Given the description of an element on the screen output the (x, y) to click on. 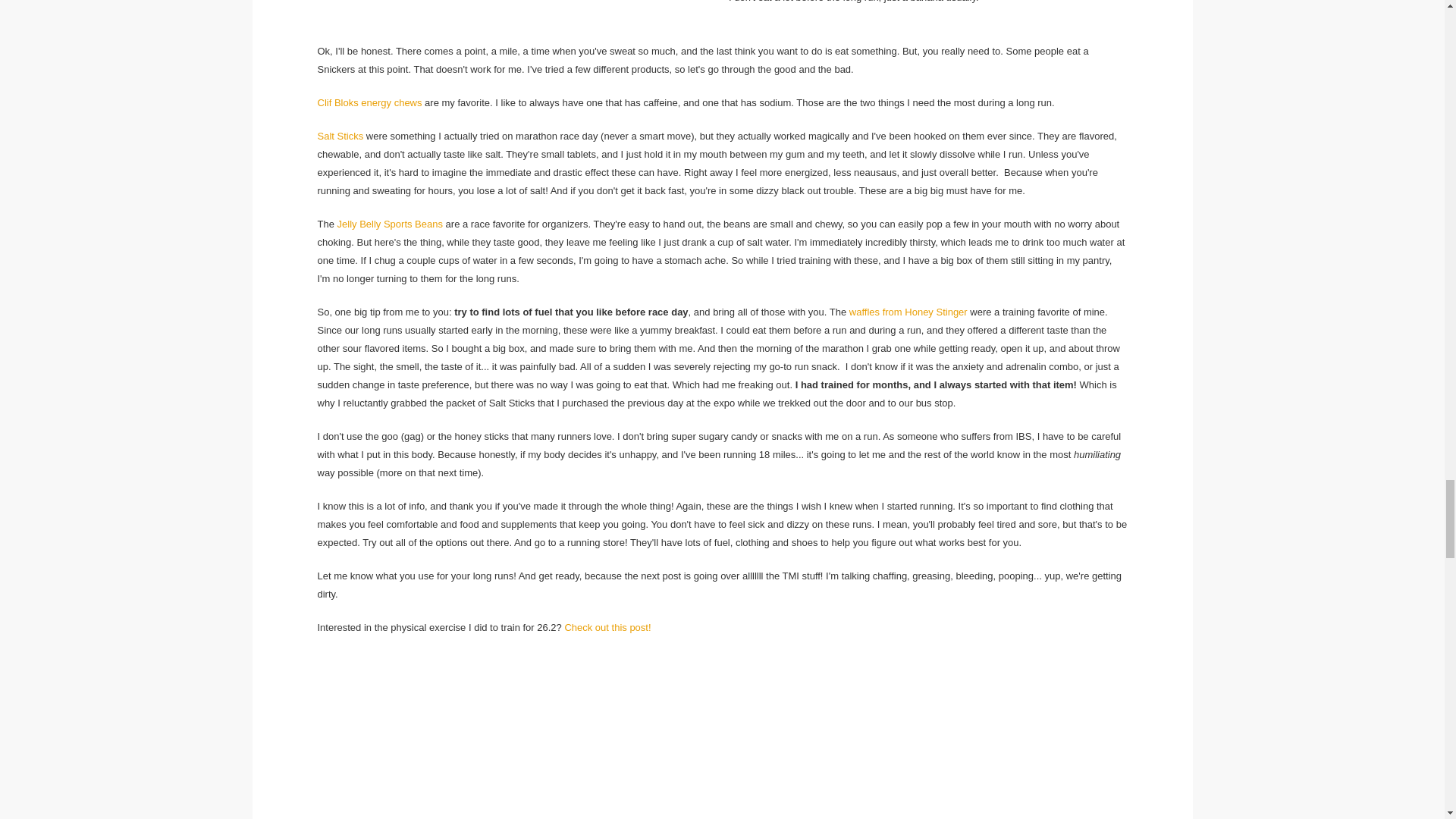
Clif Bloks energy chews (369, 102)
Salt Sticks (339, 135)
Jelly Belly Sports Beans (389, 224)
waffles from Honey Stinger (908, 311)
